Given the description of an element on the screen output the (x, y) to click on. 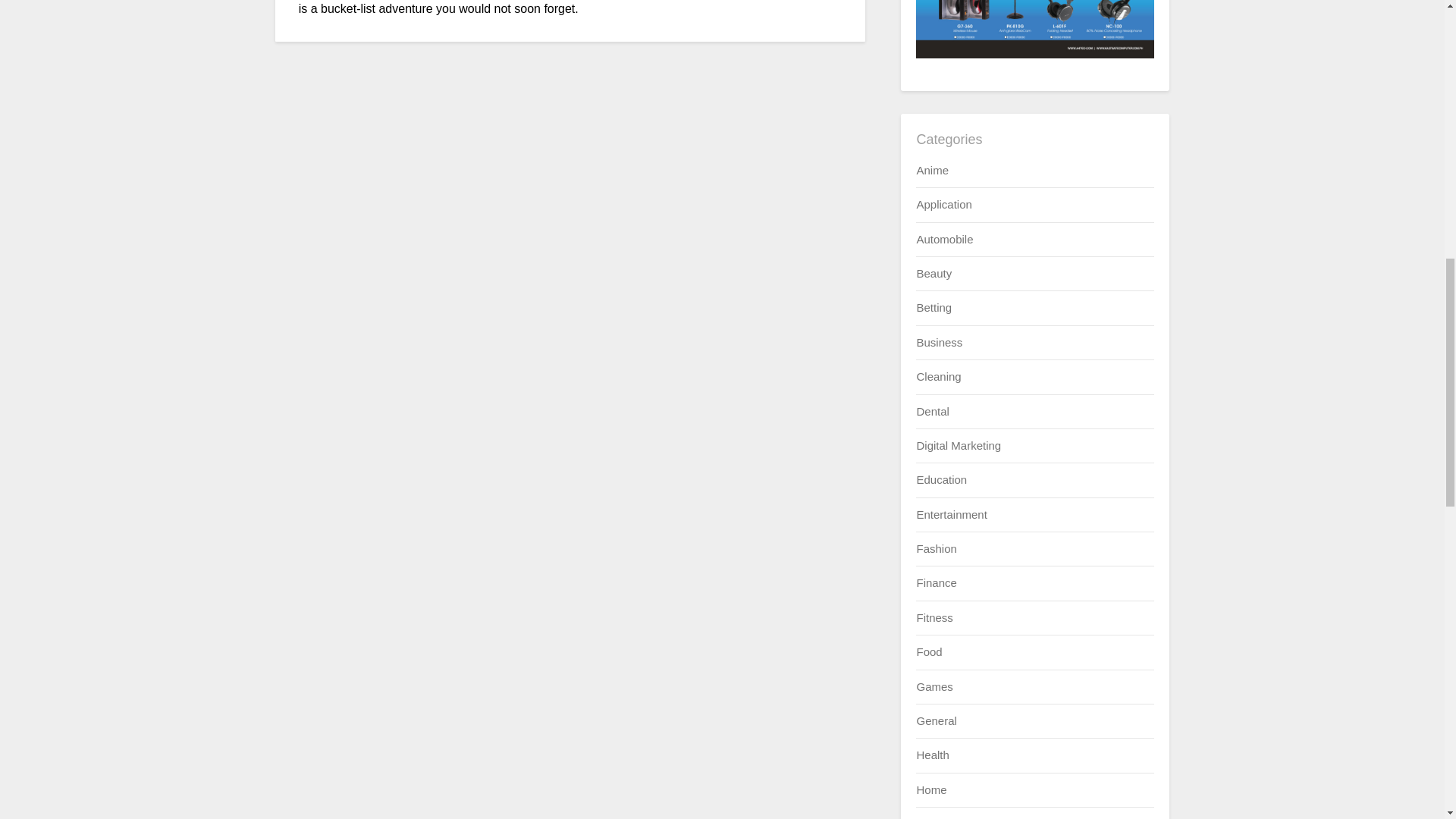
Entertainment (951, 513)
Food (928, 651)
Cleaning (937, 376)
Health (932, 754)
Anime (932, 169)
General (935, 720)
Automobile (943, 238)
Home Improvement (965, 818)
Beauty (933, 273)
Finance (935, 582)
